Given the description of an element on the screen output the (x, y) to click on. 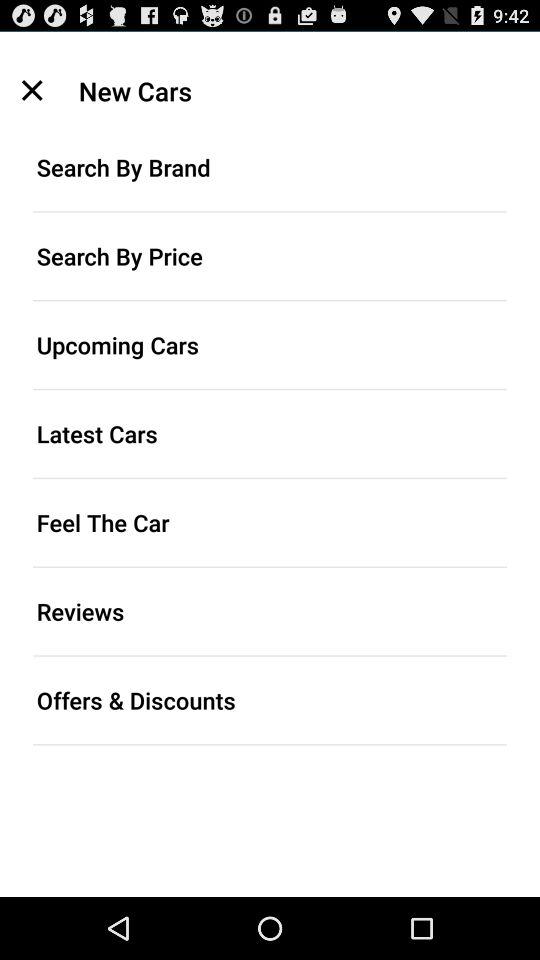
go back (32, 90)
